Given the description of an element on the screen output the (x, y) to click on. 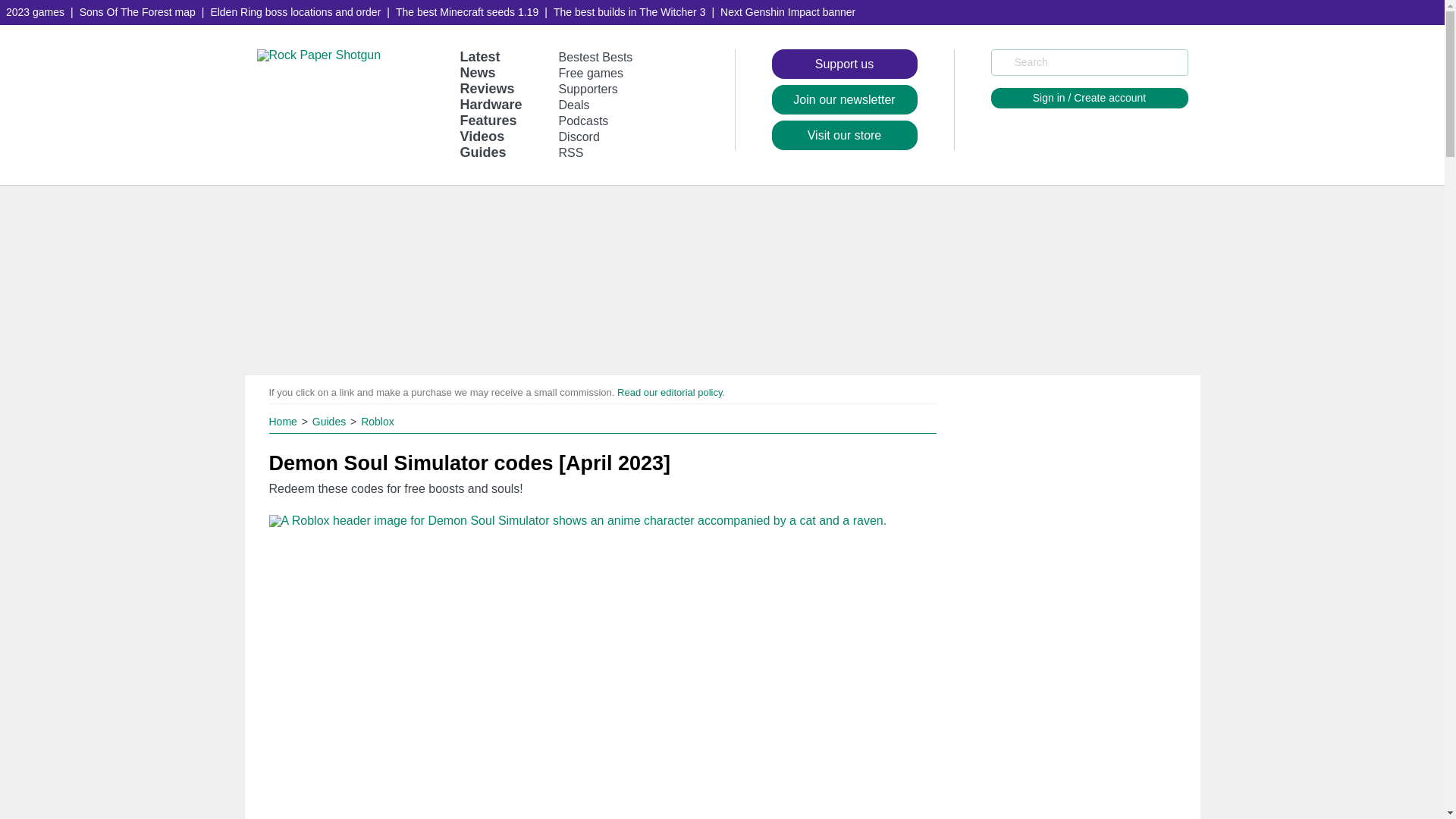
Features (488, 120)
Hardware (490, 104)
Visit our store (844, 134)
Sons Of The Forest map (138, 12)
Next Genshin Impact banner (787, 12)
Support us (844, 63)
Read our editorial policy (669, 392)
News (477, 72)
The best builds in The Witcher 3 (629, 12)
Videos (481, 136)
